Given the description of an element on the screen output the (x, y) to click on. 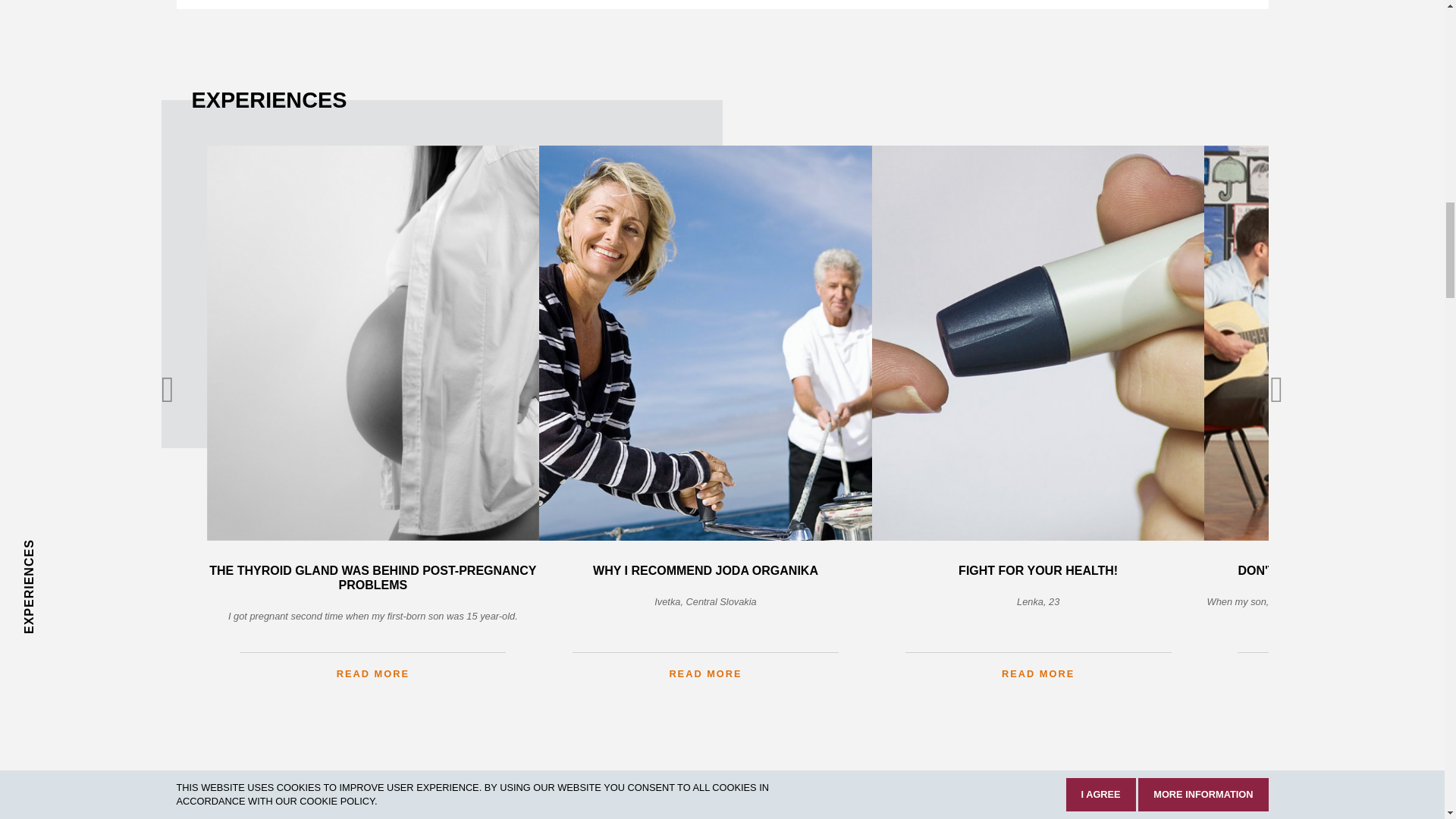
THE THYROID GLAND WAS BEHIND POST-PREGNANCY PROBLEMS (372, 577)
READ MORE (705, 665)
READ MORE (372, 665)
READ MORE (1038, 665)
WHY I RECOMMEND JODA ORGANIKA (705, 570)
FIGHT FOR YOUR HEALTH! (1038, 570)
